Given the description of an element on the screen output the (x, y) to click on. 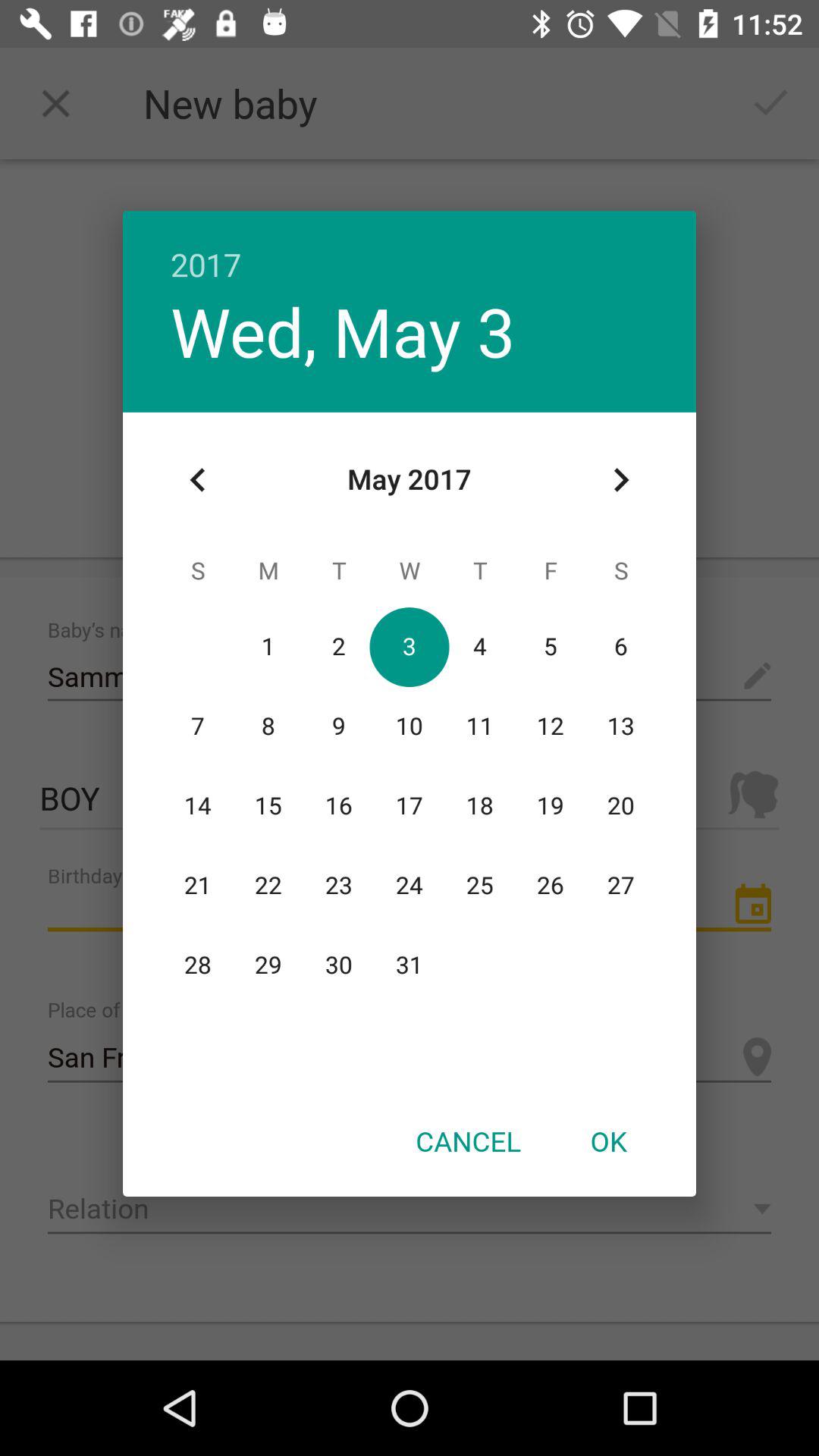
tap item above the ok (620, 479)
